Given the description of an element on the screen output the (x, y) to click on. 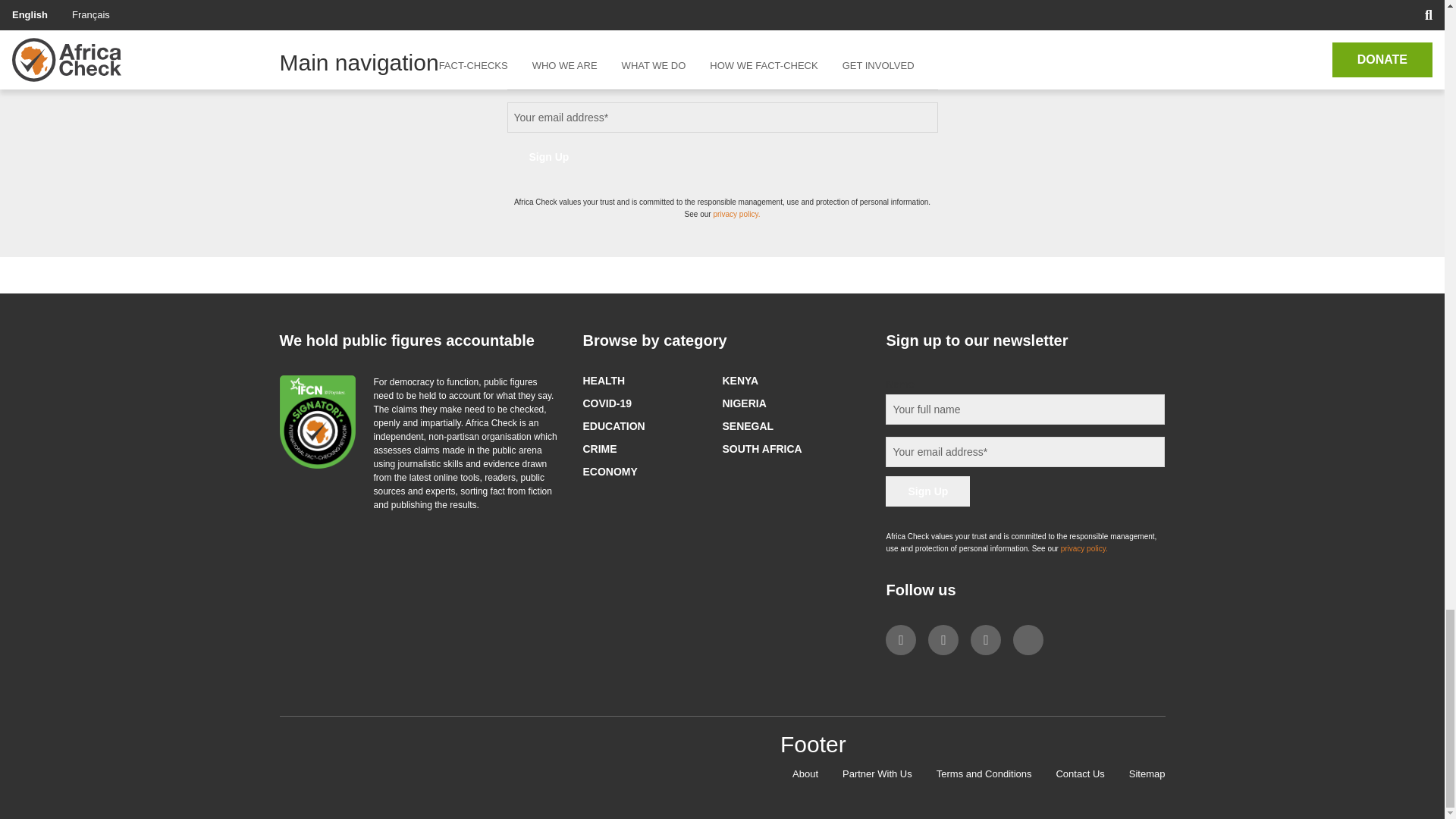
IFCN signatory (317, 422)
Sign Up (927, 490)
Sign Up (548, 156)
